Given the description of an element on the screen output the (x, y) to click on. 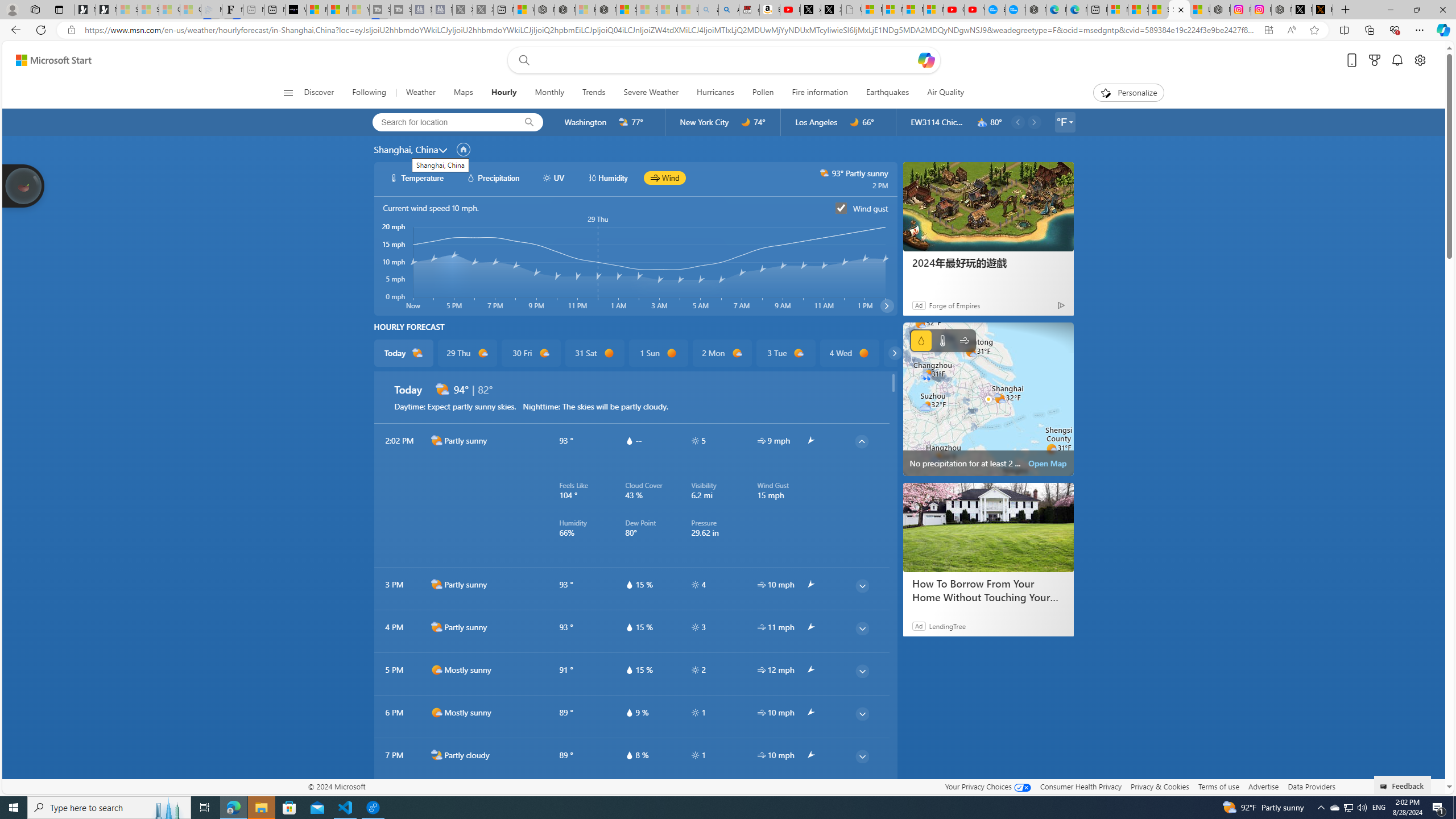
Privacy & Cookies (1160, 785)
Data Providers (1311, 785)
n0000 (854, 121)
Privacy & Cookies (1160, 786)
LendingTree (946, 625)
Precipitation (920, 340)
Gloom - YouTube (954, 9)
Newsletter Sign Up (106, 9)
Amazon Echo Dot PNG - Search Images (728, 9)
31 Sat d0000 (594, 352)
